Given the description of an element on the screen output the (x, y) to click on. 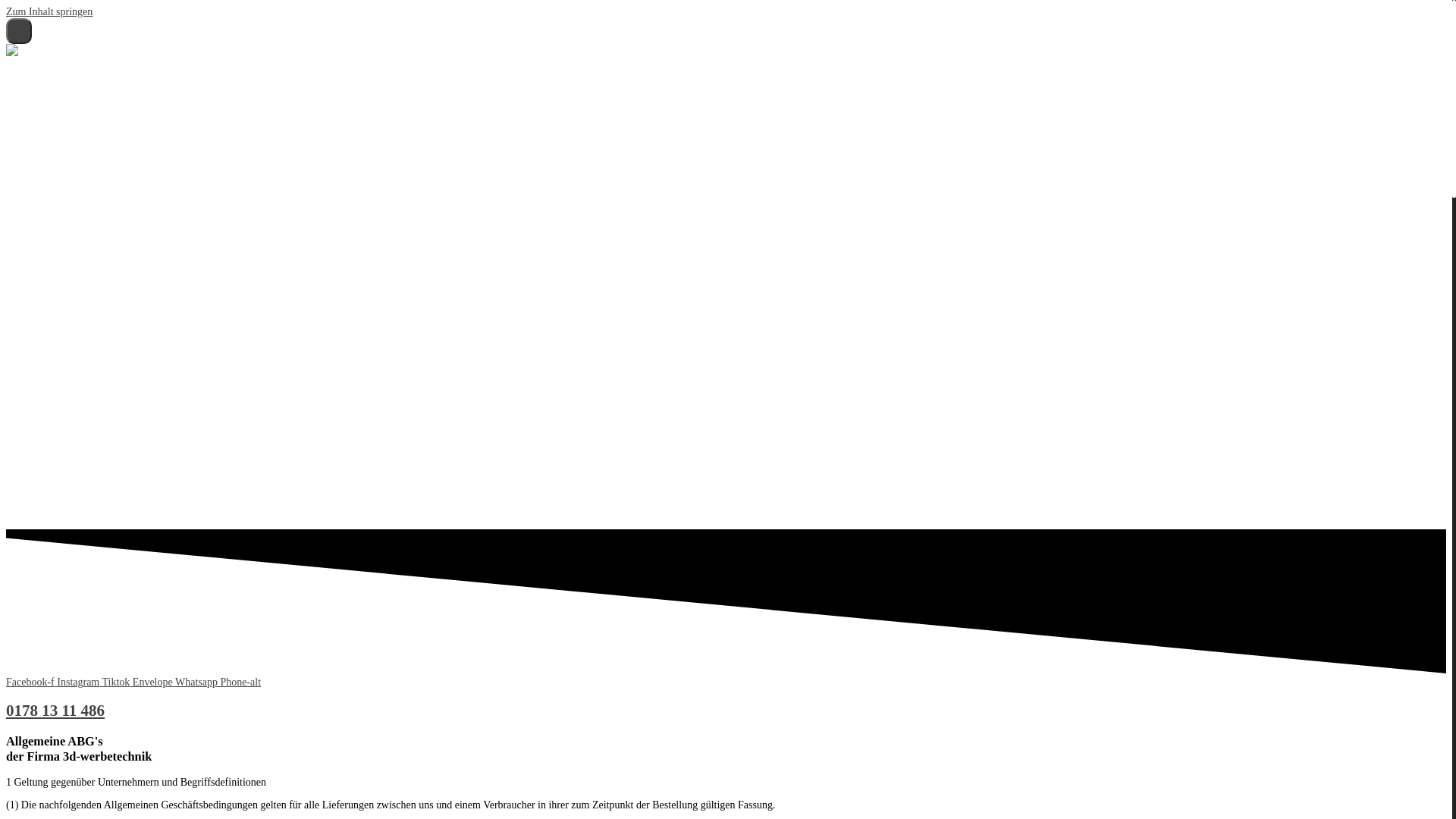
0178 13 11 486 Element type: text (55, 710)
Satinierung Element type: text (151, 181)
Schildersysteme Element type: text (162, 132)
Facebook-f Element type: text (31, 681)
Phone-alt Element type: text (239, 681)
Folienbeschriftung Element type: text (167, 169)
Envelope Element type: text (153, 681)
Home Element type: text (49, 72)
Instagram Element type: text (78, 681)
Zum Inhalt springen Element type: text (49, 11)
Whatsapp Element type: text (197, 681)
Infos Element type: text (47, 229)
Kontakt Element type: text (53, 217)
Schaufensterbeschriftung Element type: text (181, 193)
Tiktok Element type: text (116, 681)
3D Buchstabensysteme Element type: text (176, 108)
Service Element type: text (52, 84)
Digitaldrucke Element type: text (156, 144)
XXL Banner / Planendrucke Element type: text (187, 157)
Fahrzeugbeschriftung Element type: text (173, 96)
Impressum Element type: text (150, 266)
Cookie Richtlinien (EU) Element type: text (179, 278)
Galerie Element type: text (51, 205)
